Given the description of an element on the screen output the (x, y) to click on. 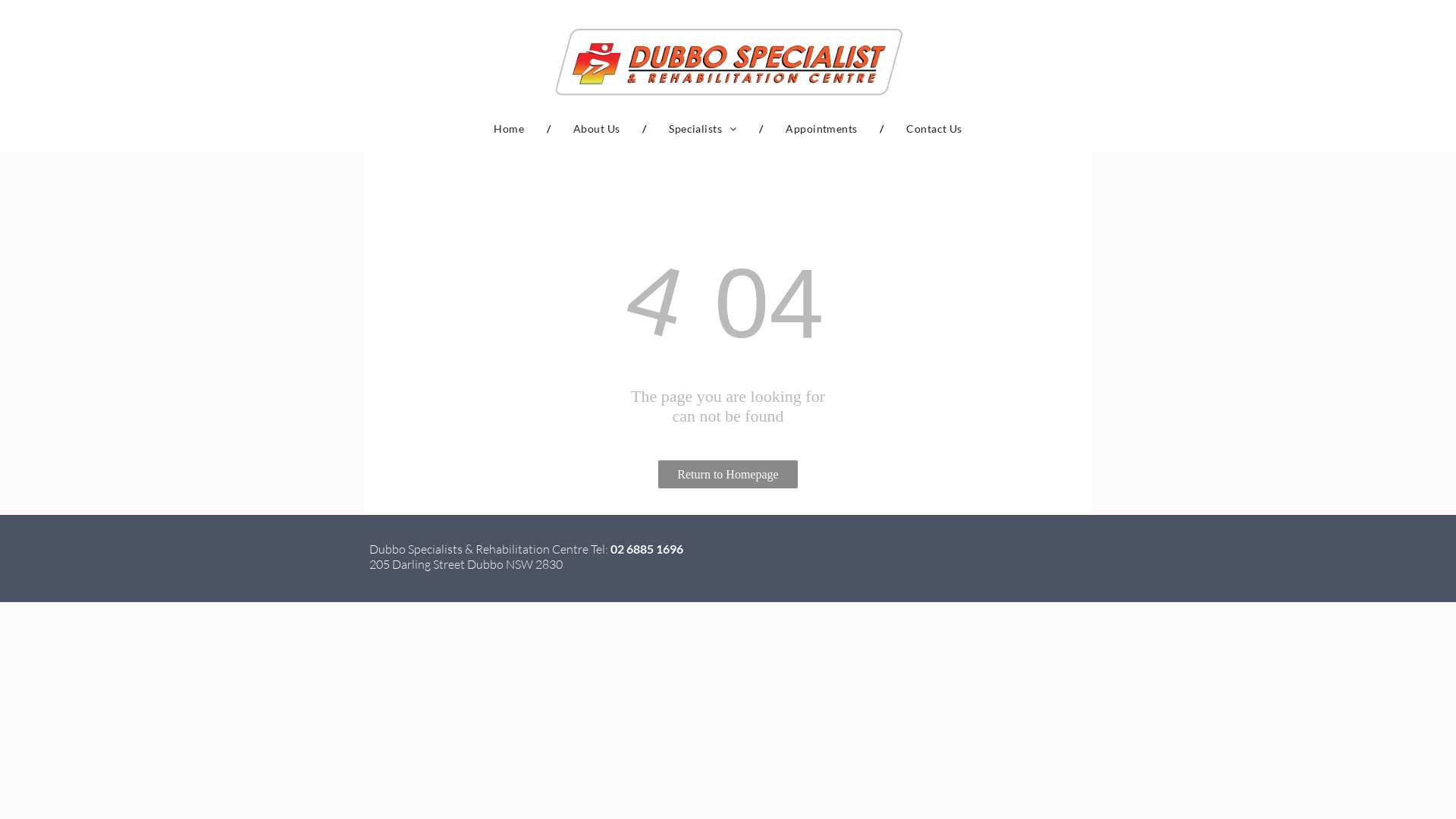
Specialists Element type: text (702, 128)
Home Element type: text (508, 128)
Contact Us Element type: text (933, 128)
Appointments Element type: text (820, 128)
About Us Element type: text (596, 128)
Return to Homepage Element type: text (727, 474)
